Given the description of an element on the screen output the (x, y) to click on. 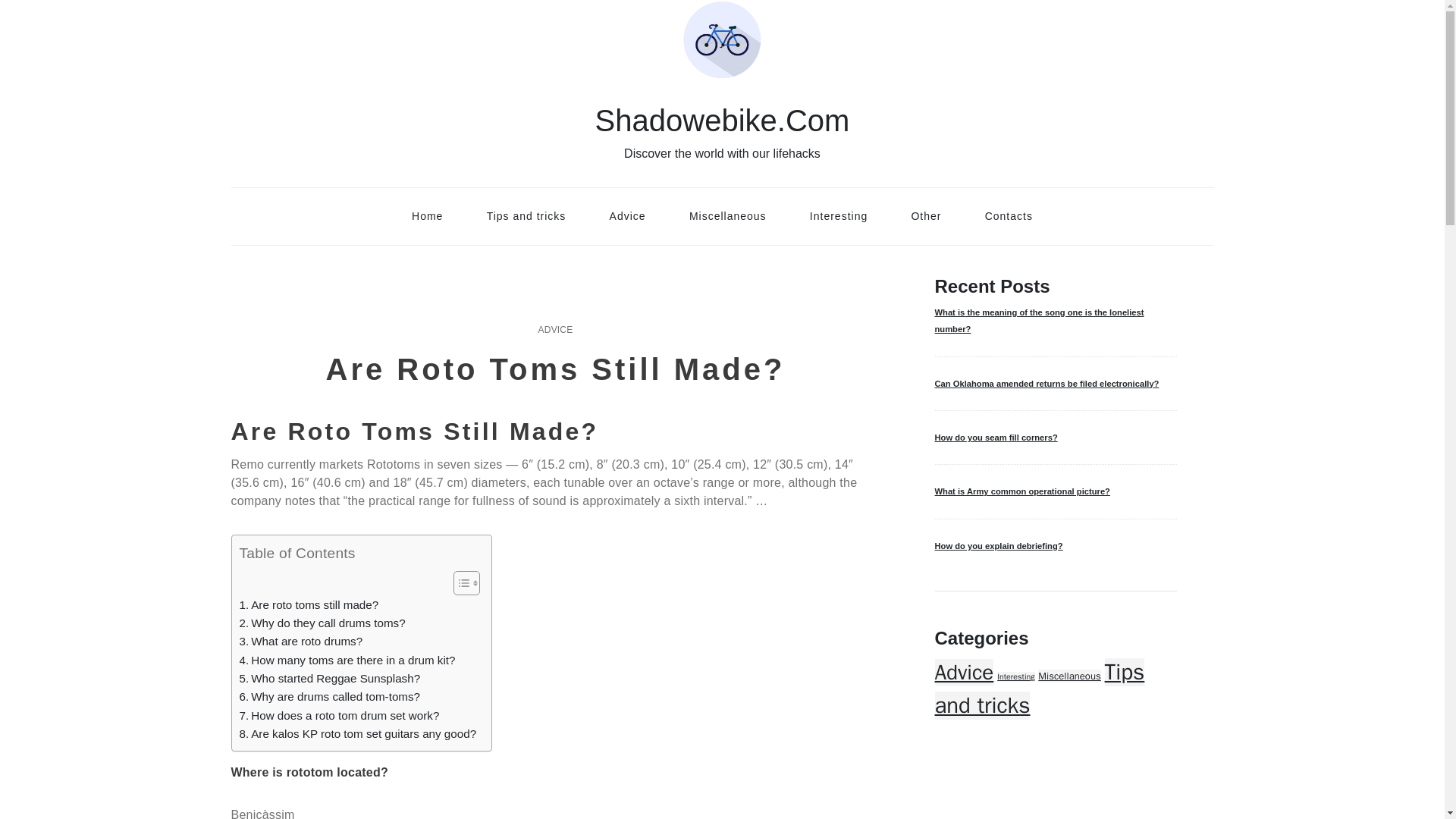
Are kalos KP roto tom set guitars any good? (358, 733)
Other (925, 215)
Miscellaneous (727, 215)
Miscellaneous (1069, 675)
Why are drums called tom-toms? (330, 696)
How do you explain debriefing? (1055, 545)
Tips and tricks (525, 215)
Interesting (1015, 676)
Advice (963, 672)
How do you seam fill corners? (1055, 437)
How many toms are there in a drum kit? (347, 660)
Home (427, 215)
How does a roto tom drum set work? (339, 715)
Who started Reggae Sunsplash? (330, 678)
Interesting (838, 215)
